Given the description of an element on the screen output the (x, y) to click on. 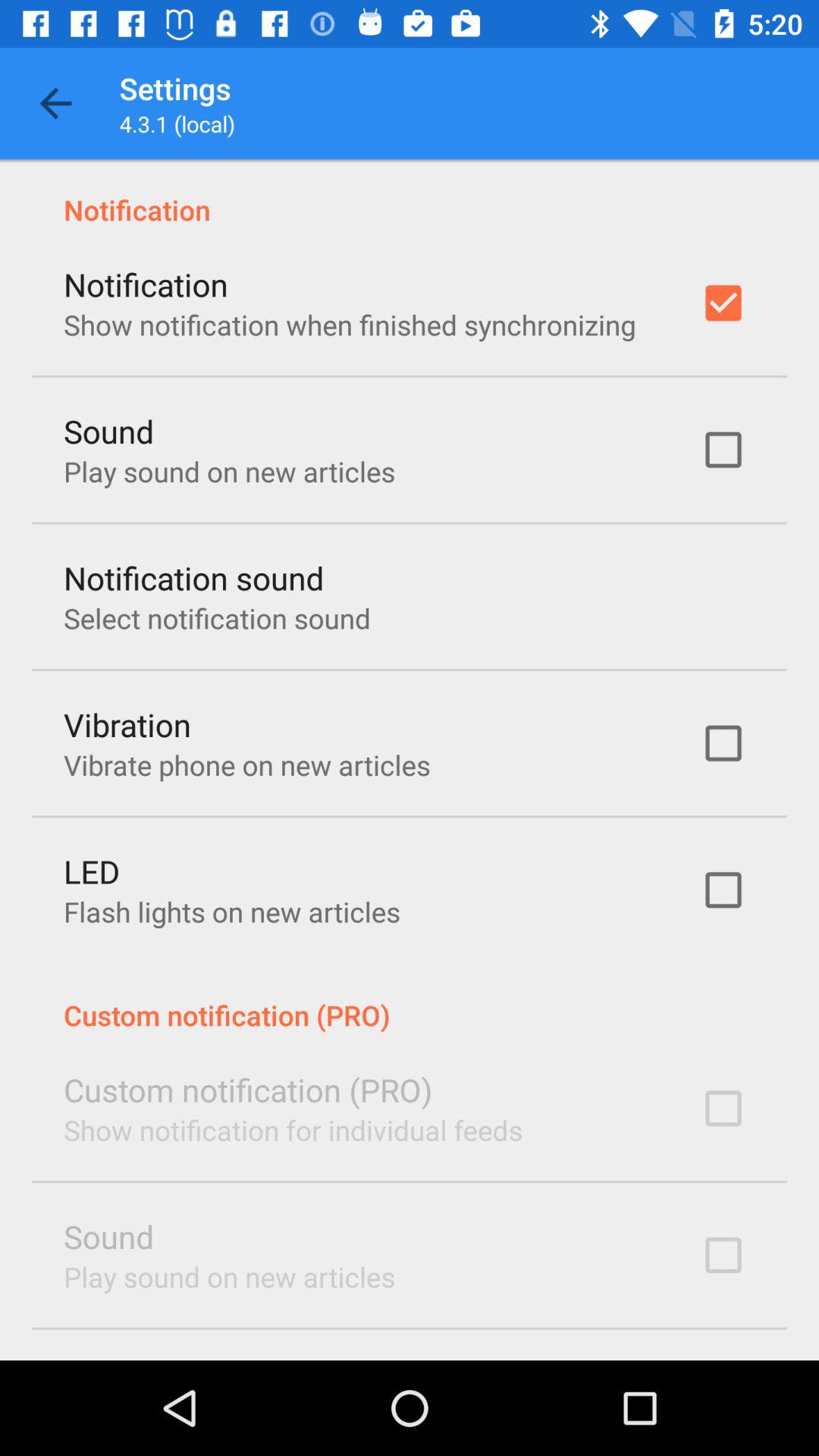
click icon above the custom notification (pro) item (231, 911)
